Given the description of an element on the screen output the (x, y) to click on. 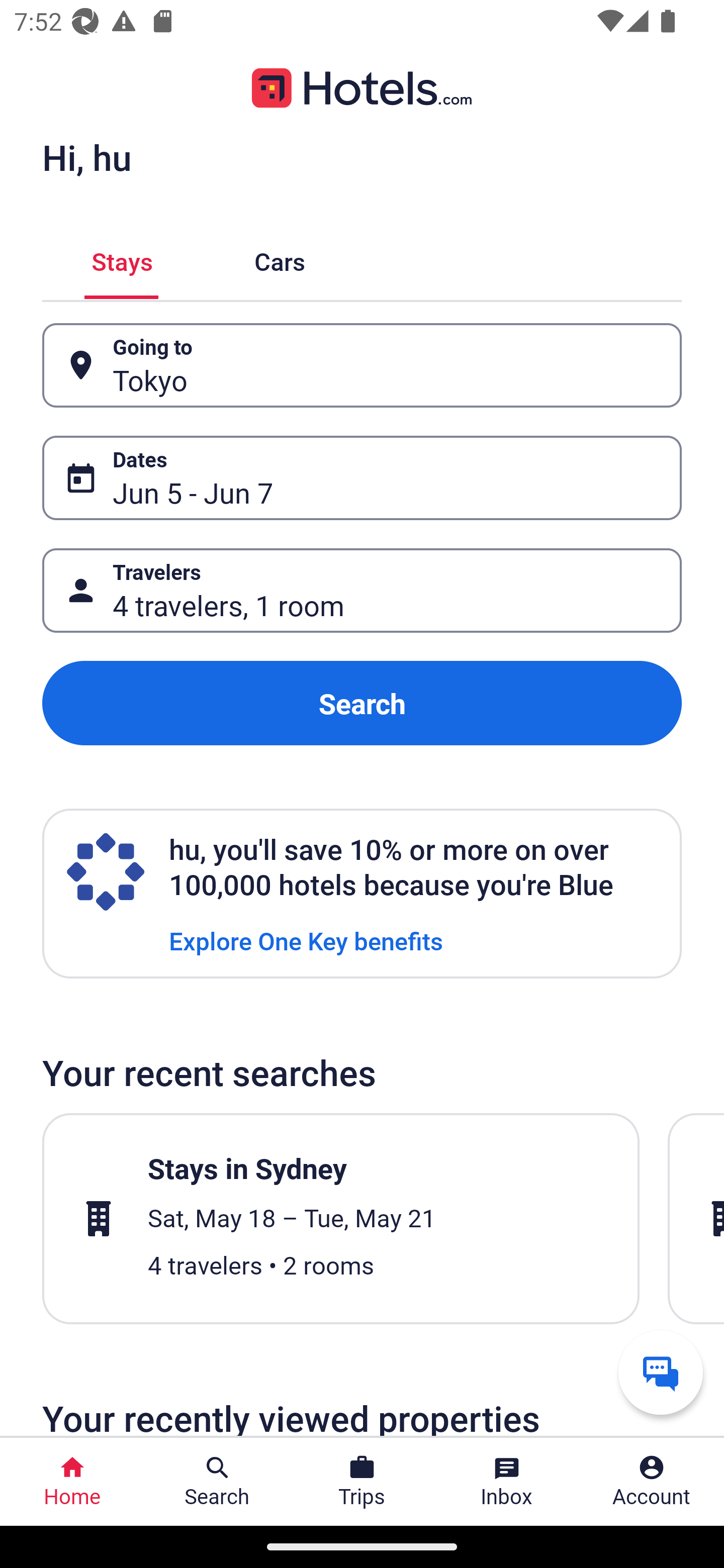
Hi, hu (86, 156)
Cars (279, 259)
Going to Button Tokyo (361, 365)
Dates Button Jun 5 - Jun 7 (361, 477)
Travelers Button 4 travelers, 1 room (361, 590)
Search (361, 702)
Get help from a virtual agent (660, 1371)
Search Search Button (216, 1481)
Trips Trips Button (361, 1481)
Inbox Inbox Button (506, 1481)
Account Profile. Button (651, 1481)
